Given the description of an element on the screen output the (x, y) to click on. 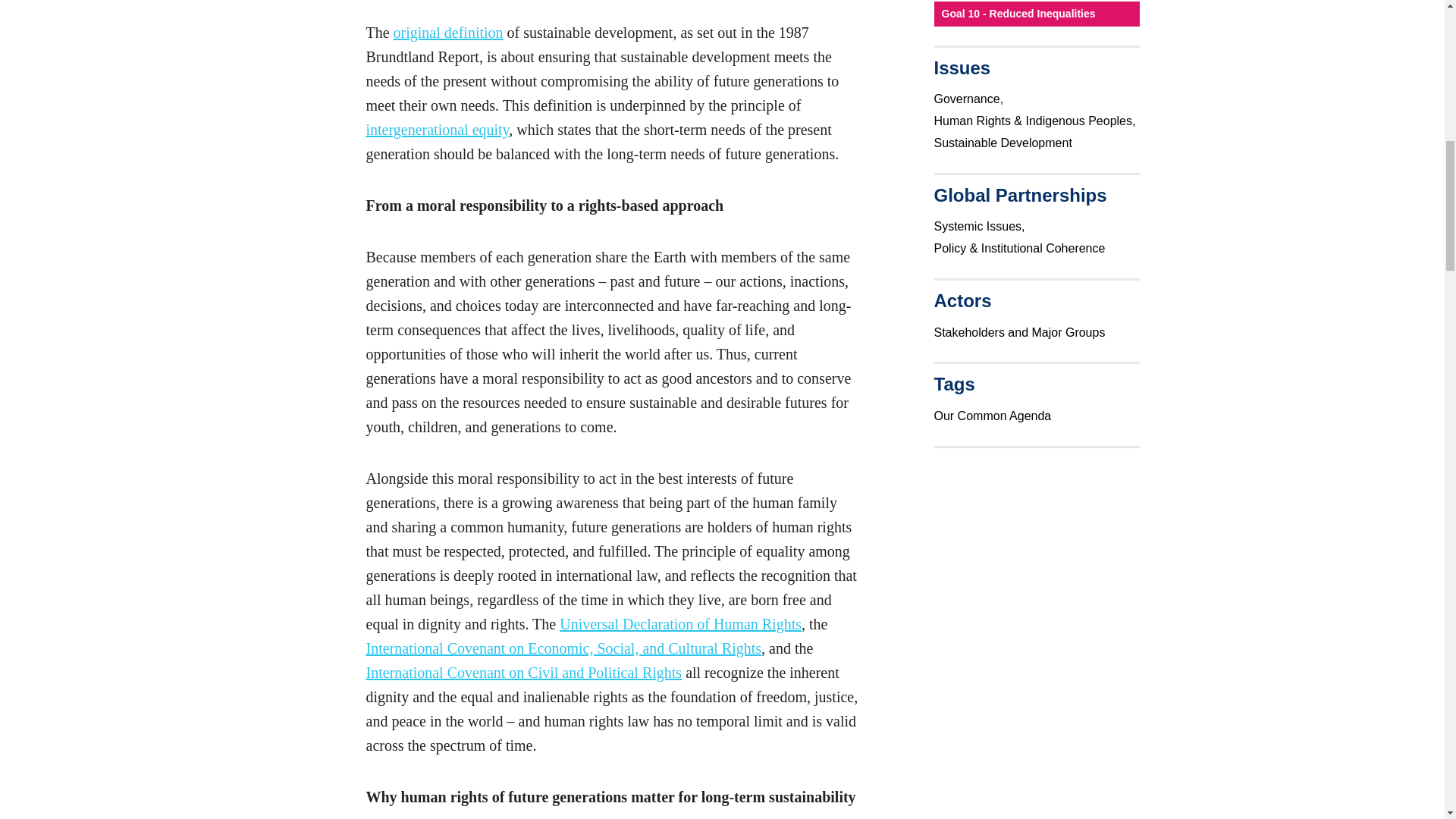
intergenerational equity (436, 129)
Universal Declaration of Human Rights (680, 623)
original definition (448, 32)
Governance, (970, 98)
Goal 10 - Reduced Inequalities (1037, 13)
Sustainable Development (1004, 142)
International Covenant on Civil and Political Rights (523, 672)
